Given the description of an element on the screen output the (x, y) to click on. 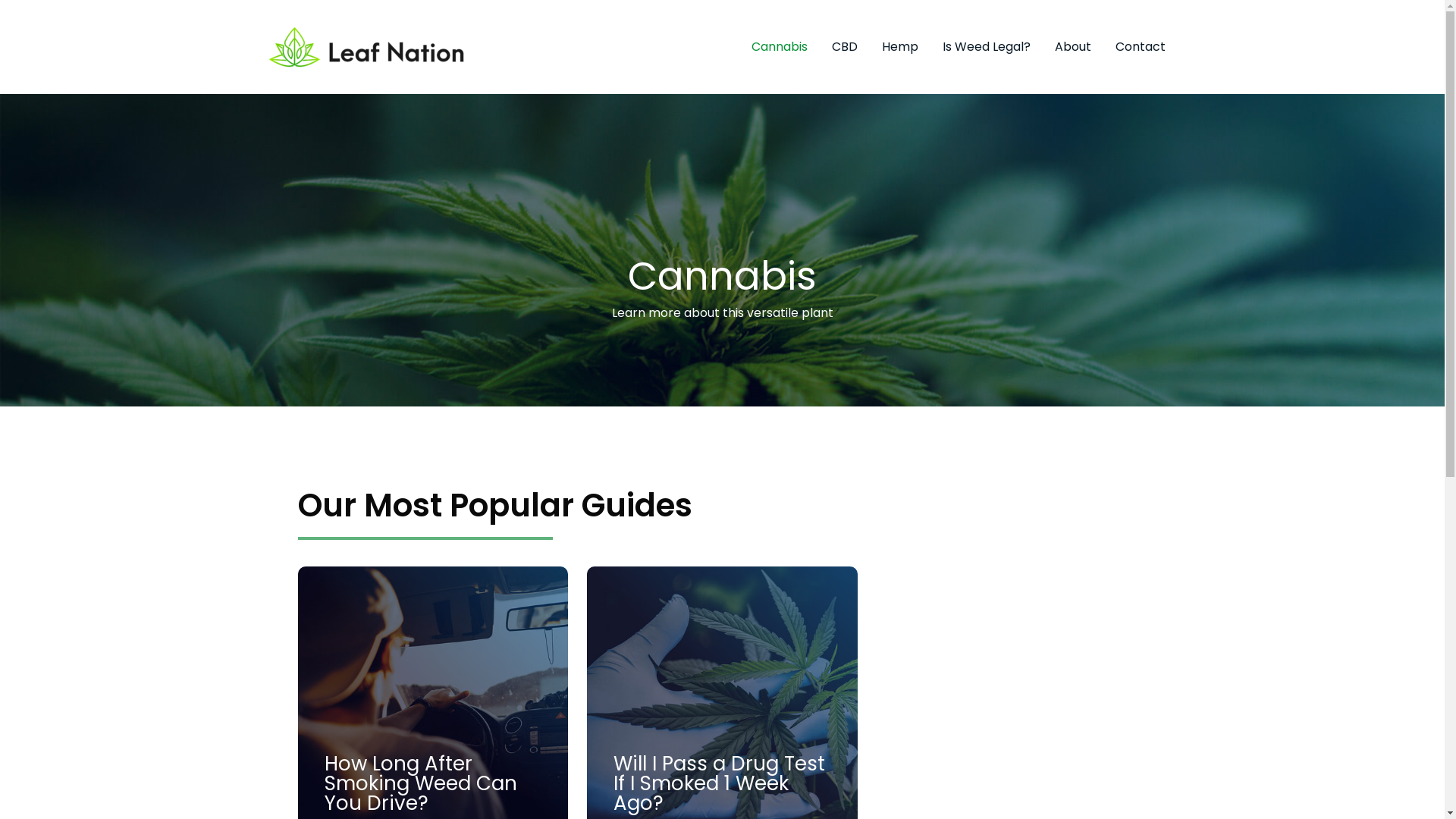
CBD Element type: text (844, 46)
Will I Pass a Drug Test If I Smoked 1 Week Ago? Element type: text (719, 782)
About Element type: text (1071, 46)
Is Weed Legal? Element type: text (985, 46)
Contact Element type: text (1139, 46)
How Long After Smoking Weed Can You Drive? Element type: text (420, 782)
Hemp Element type: text (899, 46)
Cannabis Element type: text (778, 46)
